Given the description of an element on the screen output the (x, y) to click on. 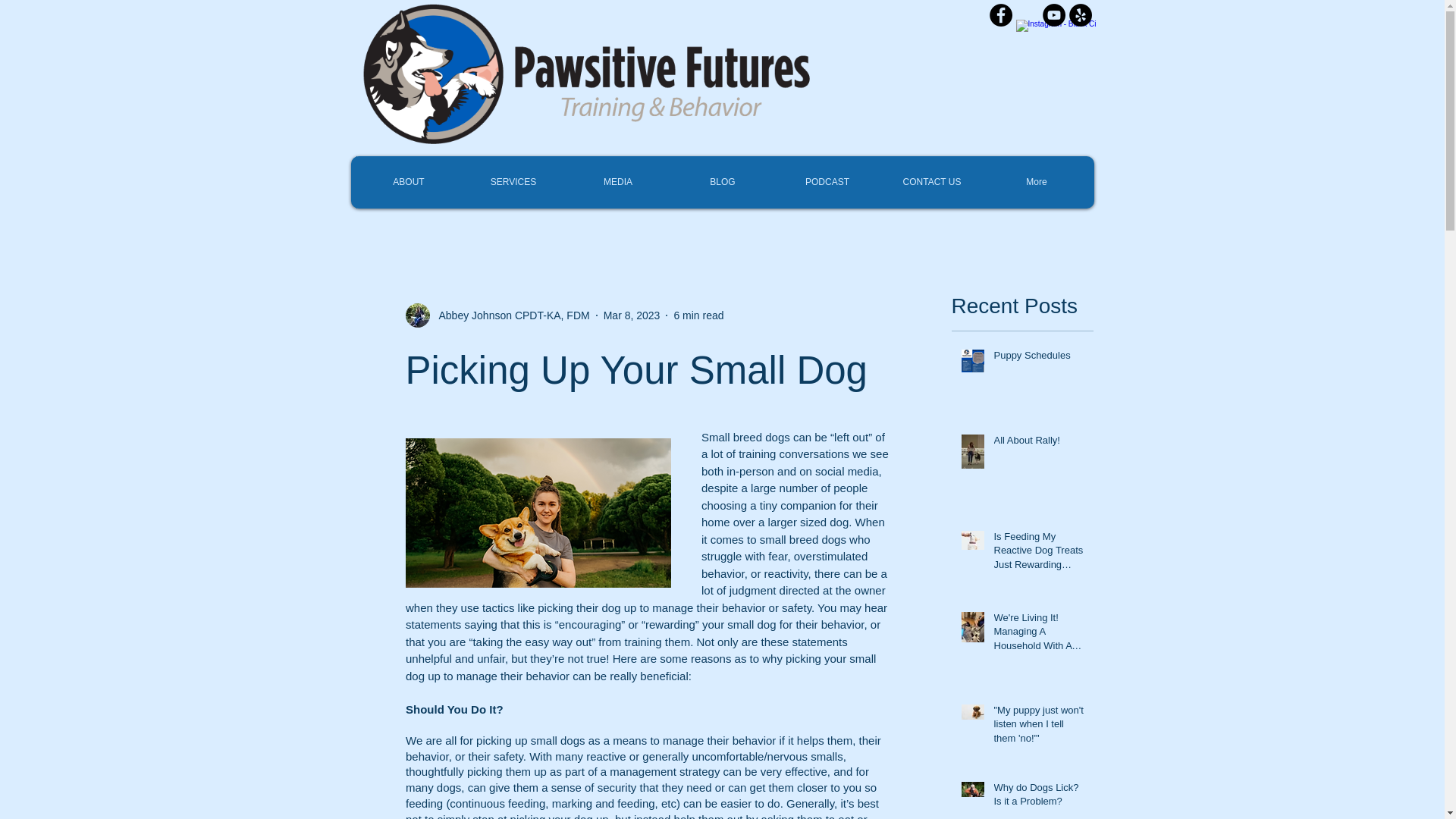
PODCAST (826, 182)
BLOG (721, 182)
Mar 8, 2023 (632, 315)
ABOUT (408, 182)
Abbey Johnson CPDT-KA, FDM (496, 315)
MEDIA (617, 182)
PawsitiveHorizLogoRGB.gif (586, 72)
SERVICES (513, 182)
Abbey Johnson CPDT-KA, FDM (509, 315)
CONTACT US (931, 182)
6 min read (697, 315)
